Given the description of an element on the screen output the (x, y) to click on. 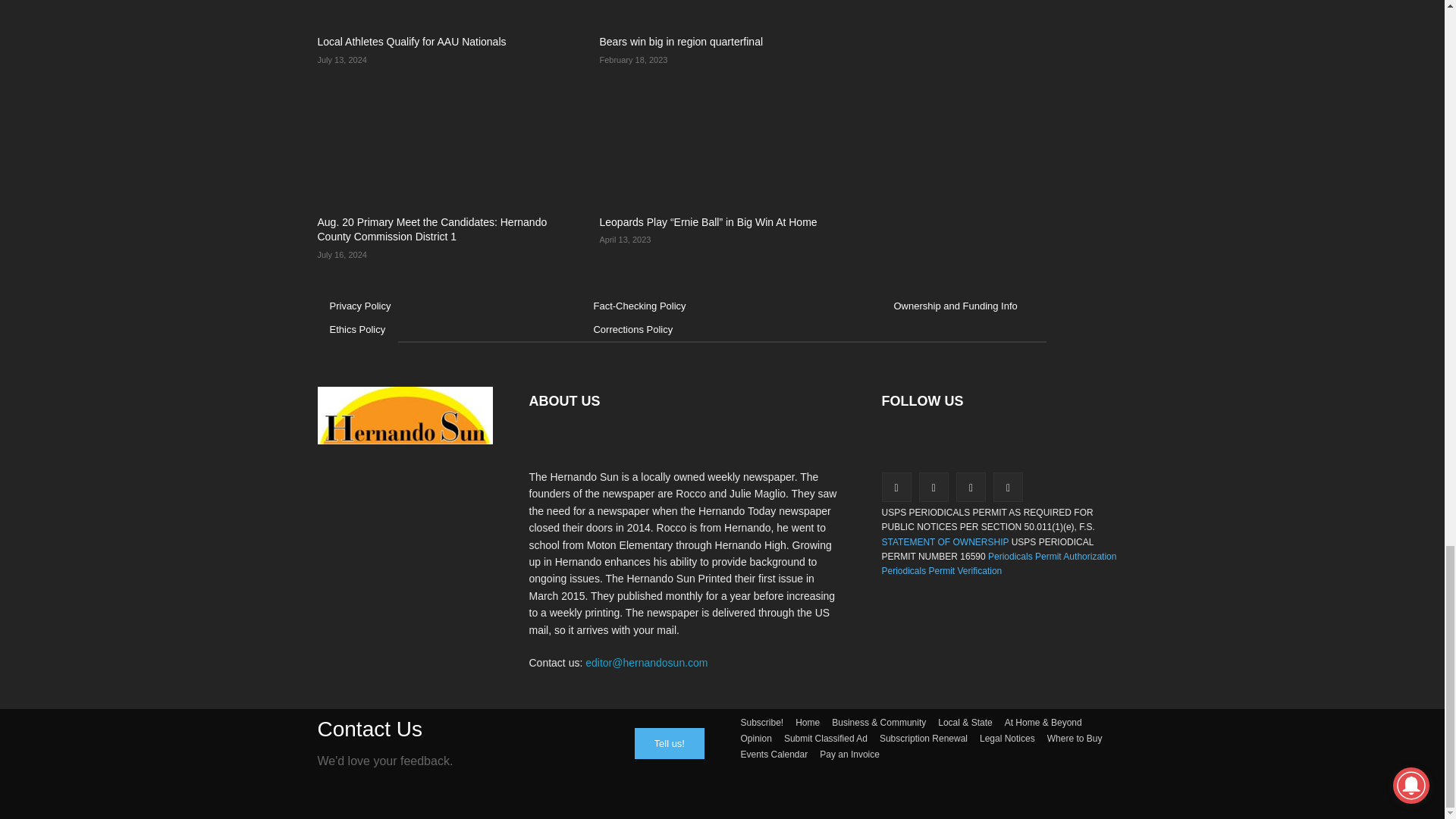
Local Athletes Qualify for AAU Nationals (439, 12)
